Given the description of an element on the screen output the (x, y) to click on. 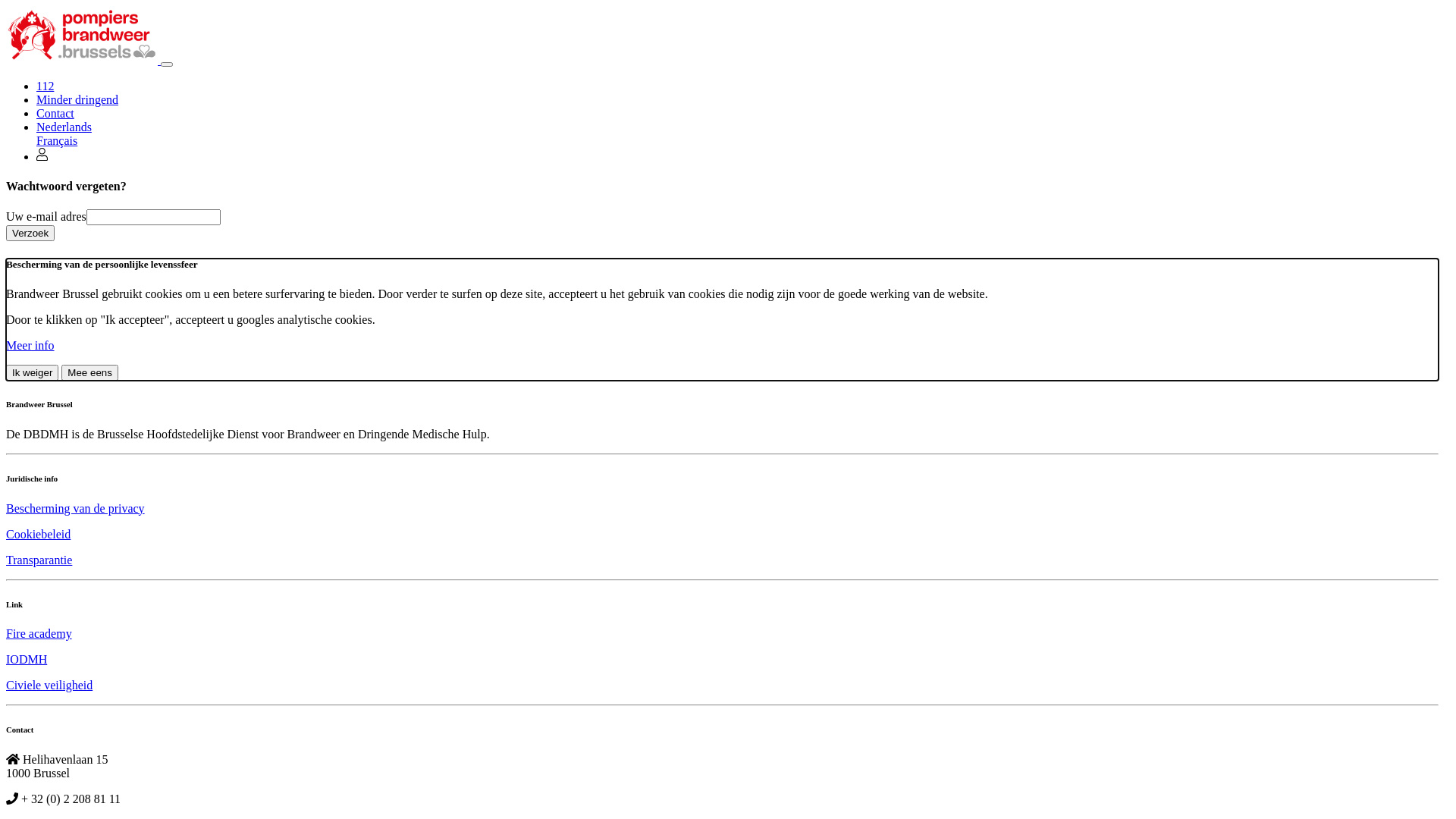
Transparantie Element type: text (39, 559)
Contact Element type: text (55, 112)
IODMH Element type: text (26, 658)
Meer info Element type: text (30, 344)
Cookiebeleid Element type: text (38, 533)
Fire academy Element type: text (39, 633)
Bescherming van de privacy Element type: text (75, 508)
Verzoek Element type: text (30, 233)
Minder dringend Element type: text (77, 99)
Civiele veiligheid Element type: text (49, 684)
Nederlands Element type: text (63, 126)
112 Element type: text (44, 85)
Mee eens Element type: text (89, 372)
Ik weiger Element type: text (32, 372)
